Given the description of an element on the screen output the (x, y) to click on. 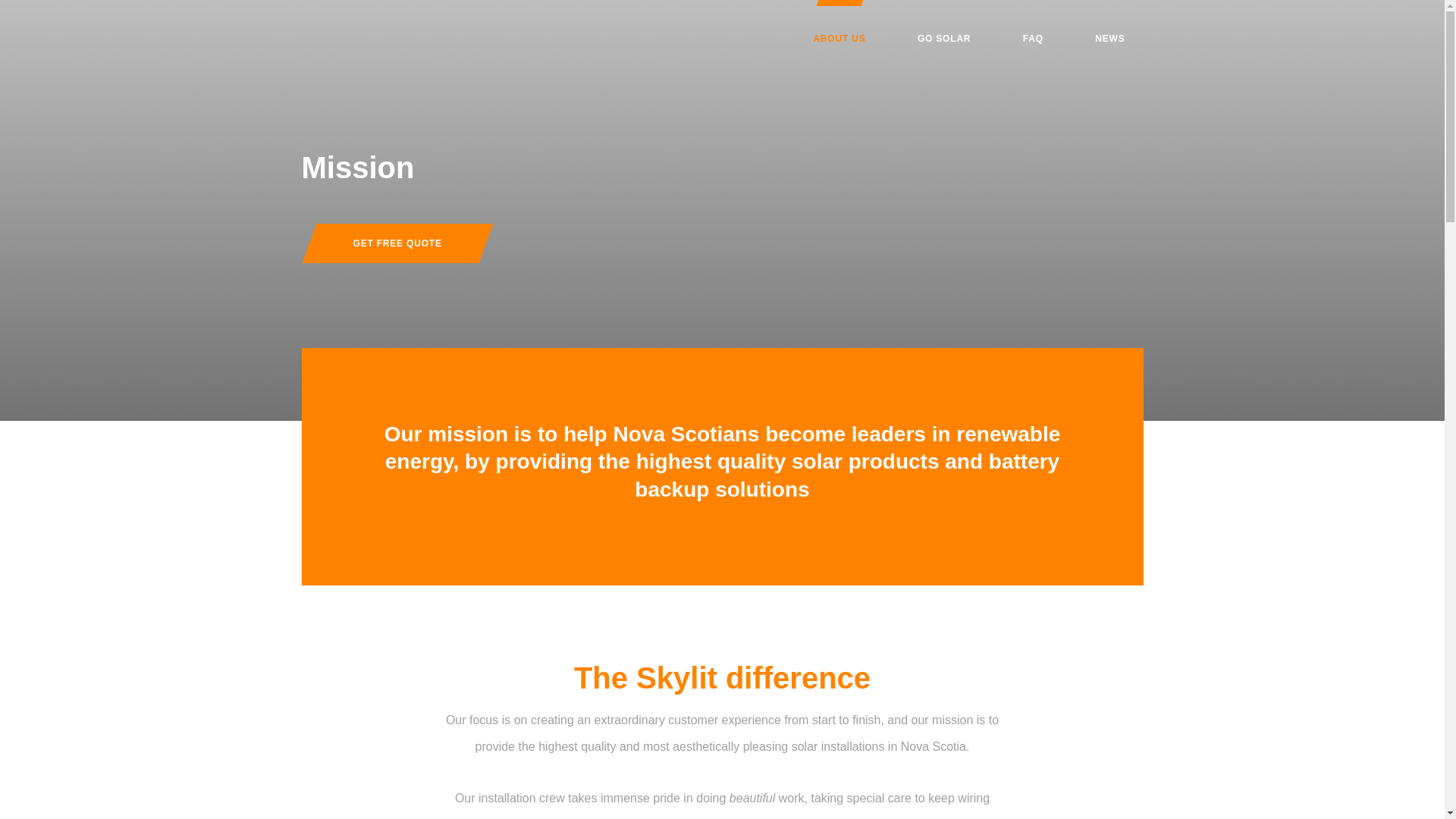
NEWS (1109, 38)
FAQ (1032, 38)
ABOUT US (838, 38)
GO SOLAR (943, 38)
